Given the description of an element on the screen output the (x, y) to click on. 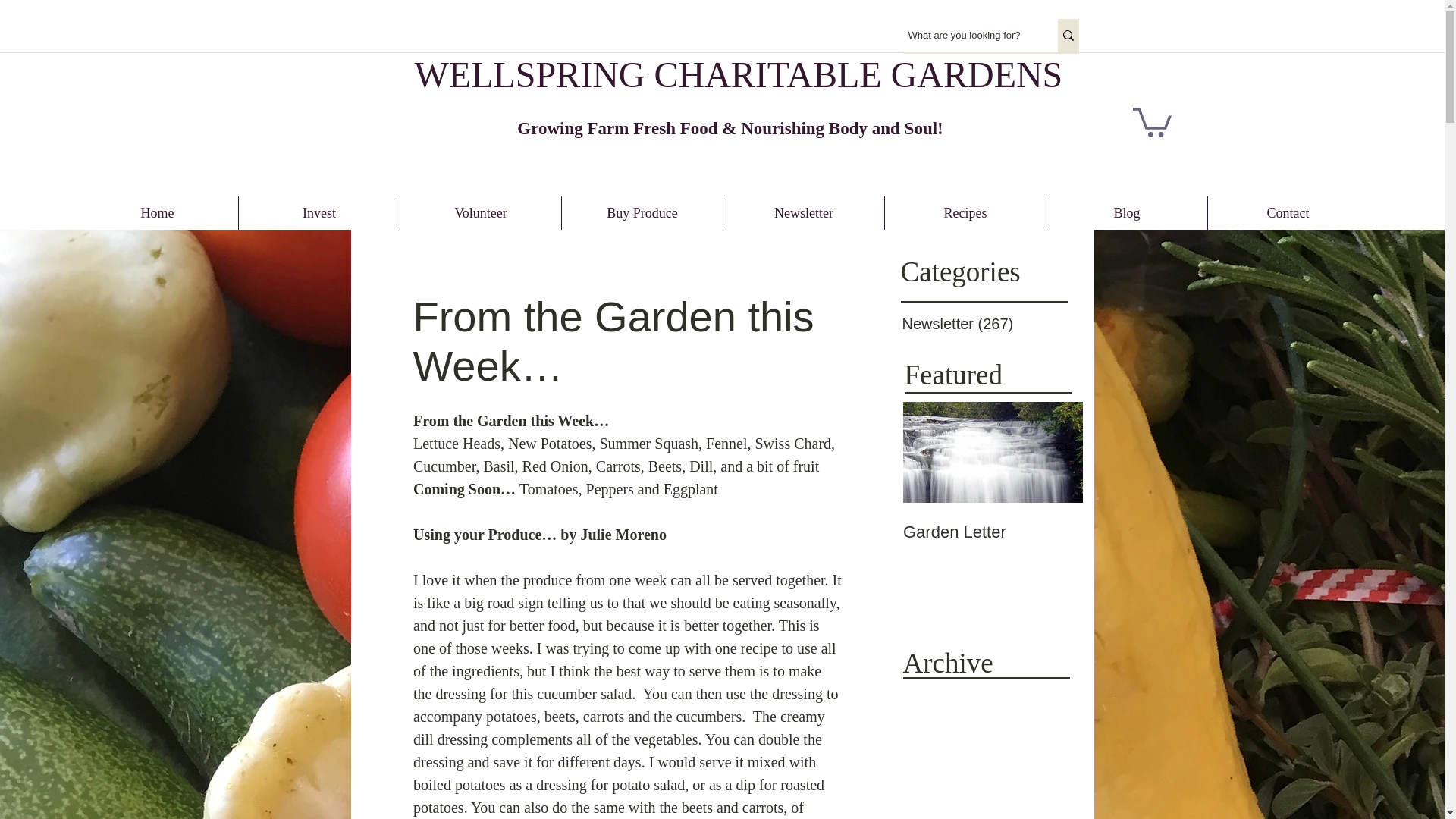
Recipes (965, 213)
Blog (1126, 213)
Contact (1288, 213)
Buy Produce (642, 213)
Newsletter (803, 213)
Invest (318, 213)
Home (157, 213)
Volunteer (480, 213)
Garden Letter (991, 532)
